Given the description of an element on the screen output the (x, y) to click on. 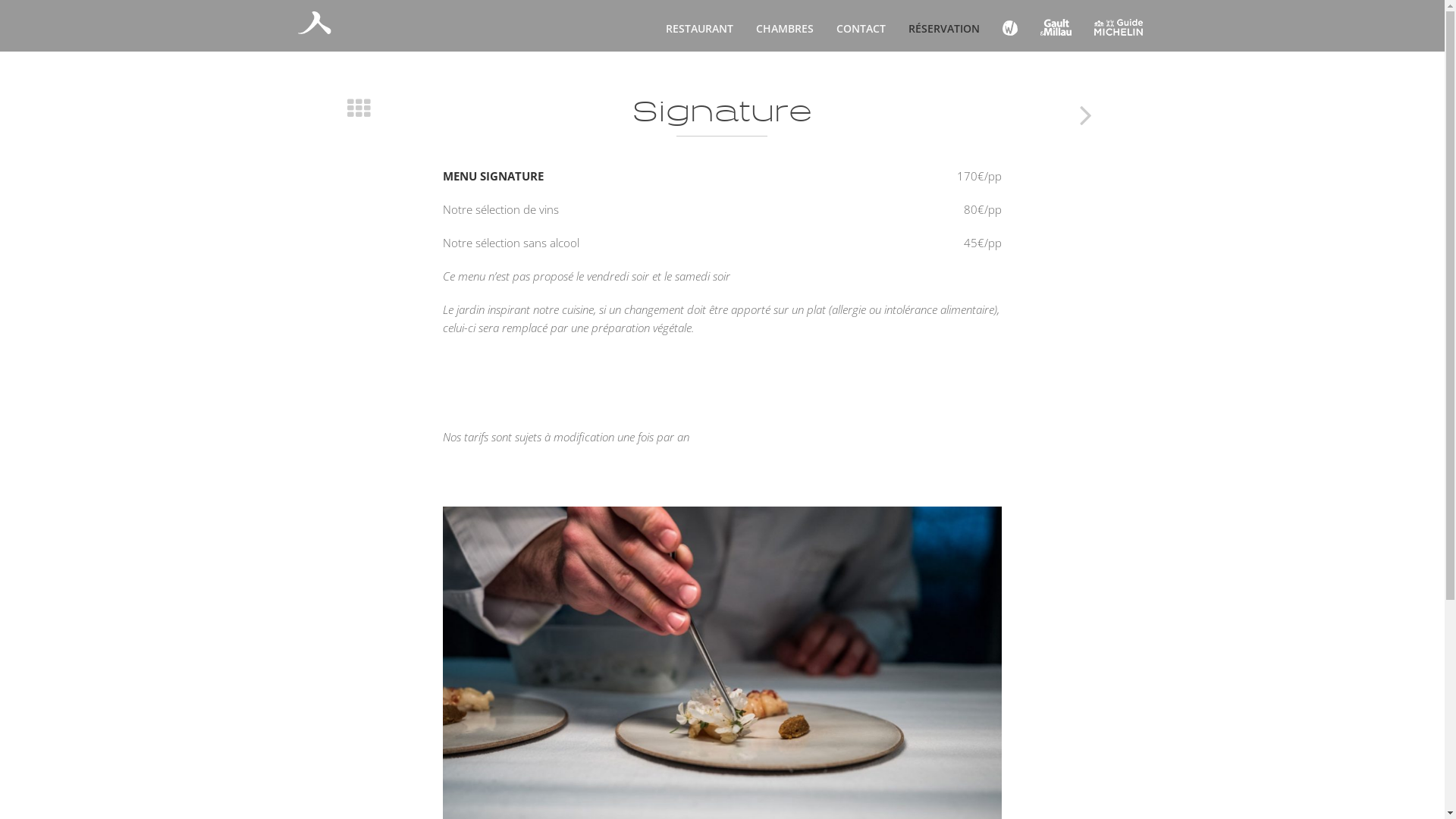
CHAMBRES Element type: text (784, 27)
L'air du temps Element type: hover (313, 24)
CONTACT Element type: text (861, 27)
RESTAURANT Element type: text (699, 27)
